Given the description of an element on the screen output the (x, y) to click on. 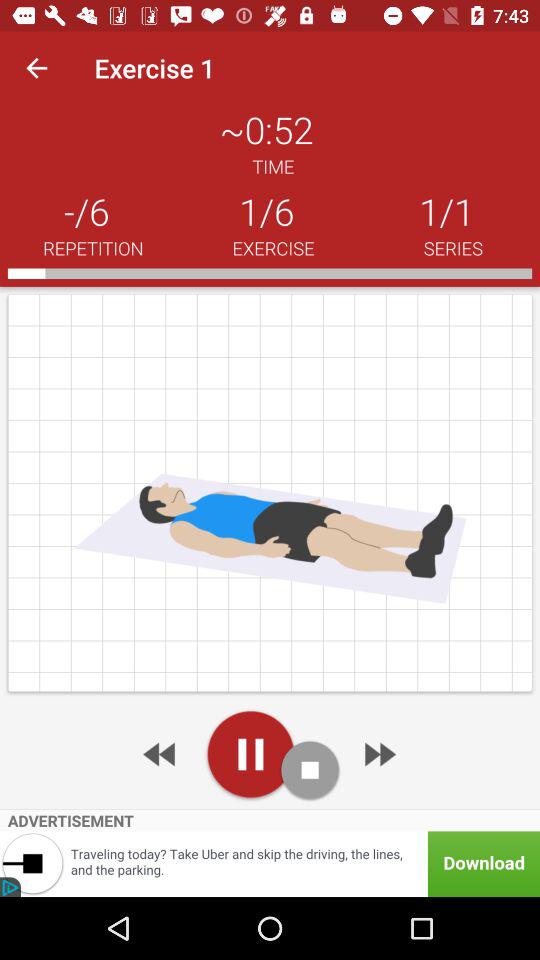
visit advertiser website (270, 864)
